Given the description of an element on the screen output the (x, y) to click on. 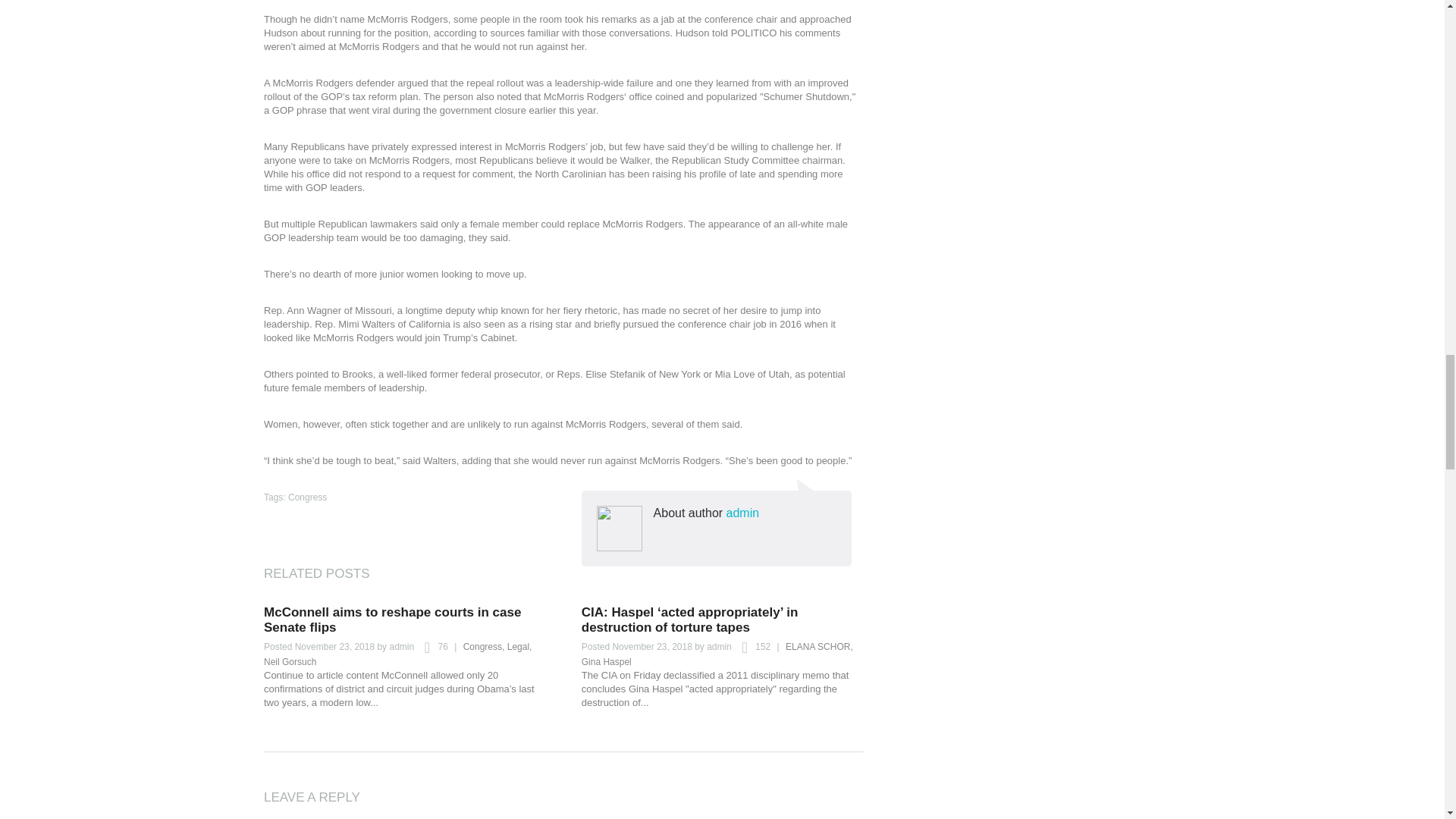
November 23, 2018 (334, 646)
Congress, (484, 646)
McConnell aims to reshape courts in case Senate flips (392, 619)
Gina Haspel (605, 662)
Views - 76 (431, 647)
admin (719, 646)
ELANA SCHOR, (819, 646)
Neil Gorsuch (289, 662)
Legal, (519, 646)
admin (400, 646)
